Given the description of an element on the screen output the (x, y) to click on. 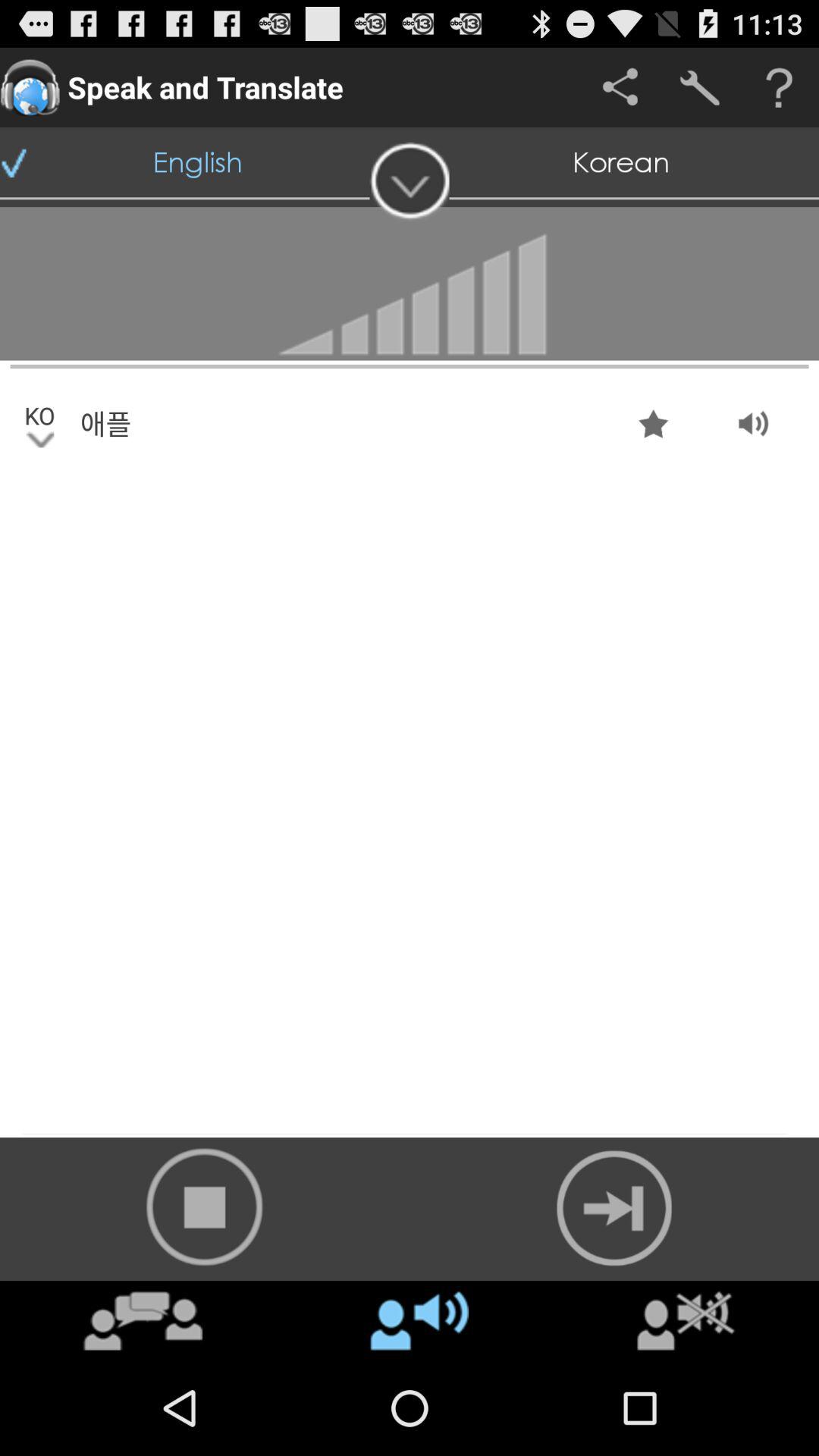
speak and translate tools button (699, 87)
